Given the description of an element on the screen output the (x, y) to click on. 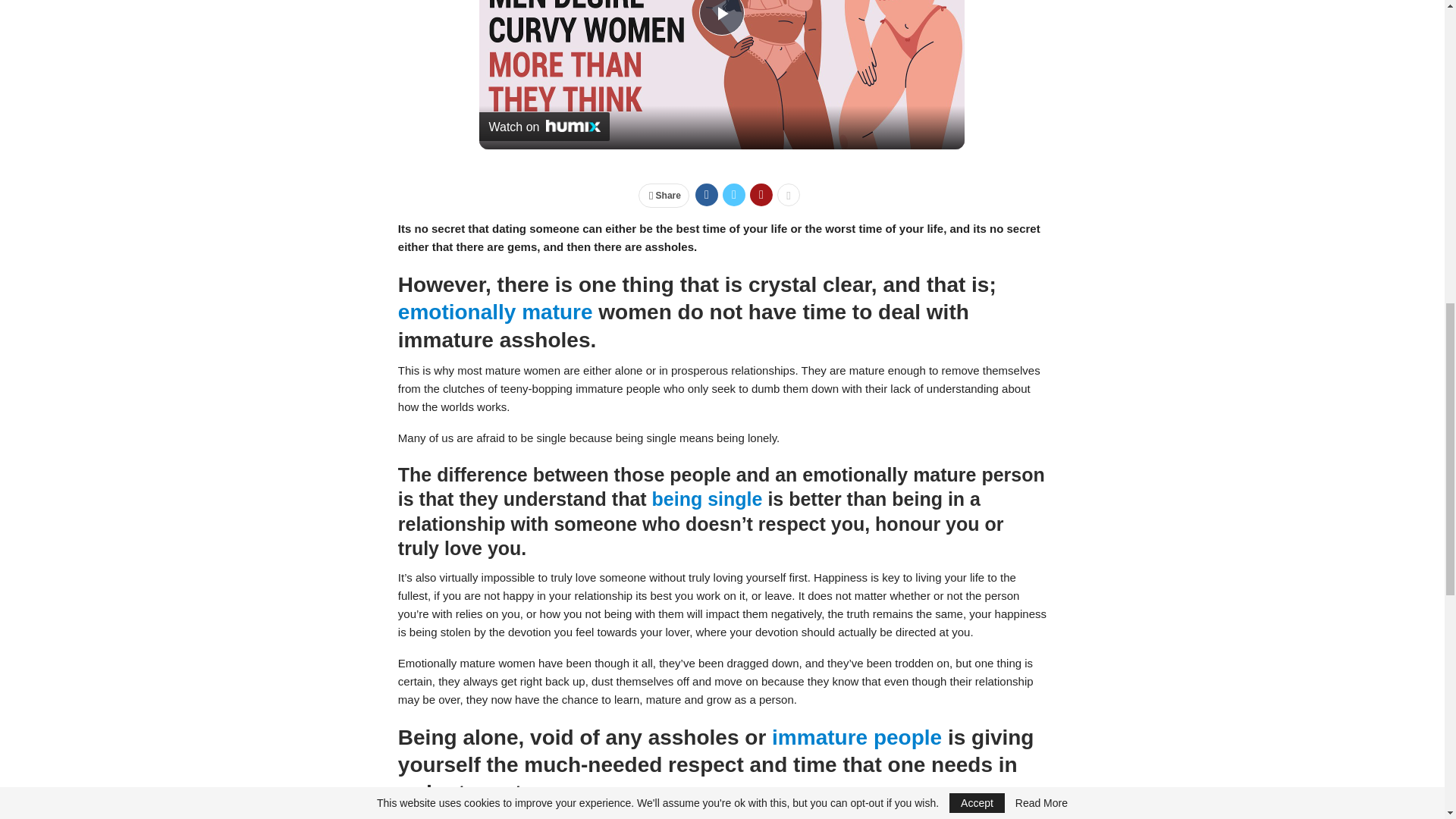
Play Video (721, 18)
PLAY VIDEO (721, 18)
